Given the description of an element on the screen output the (x, y) to click on. 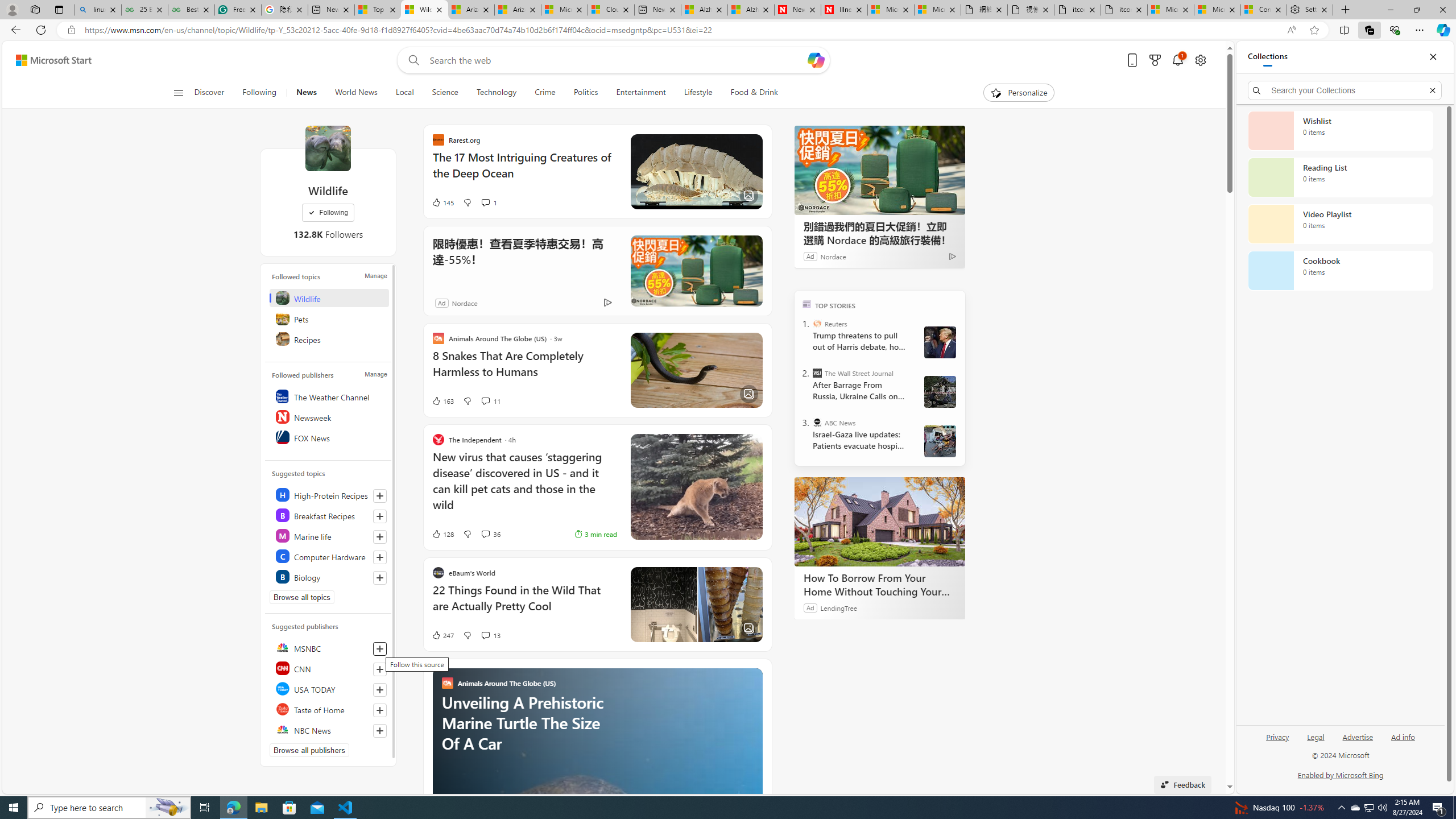
Rustrela Virus in Wild Mountain Lion 3 (696, 487)
Free AI Writing Assistance for Students | Grammarly (237, 9)
The Wall Street Journal (816, 372)
The Weather Channel (328, 396)
CNN (328, 668)
FOX News (328, 437)
Exit search (1432, 90)
